Given the description of an element on the screen output the (x, y) to click on. 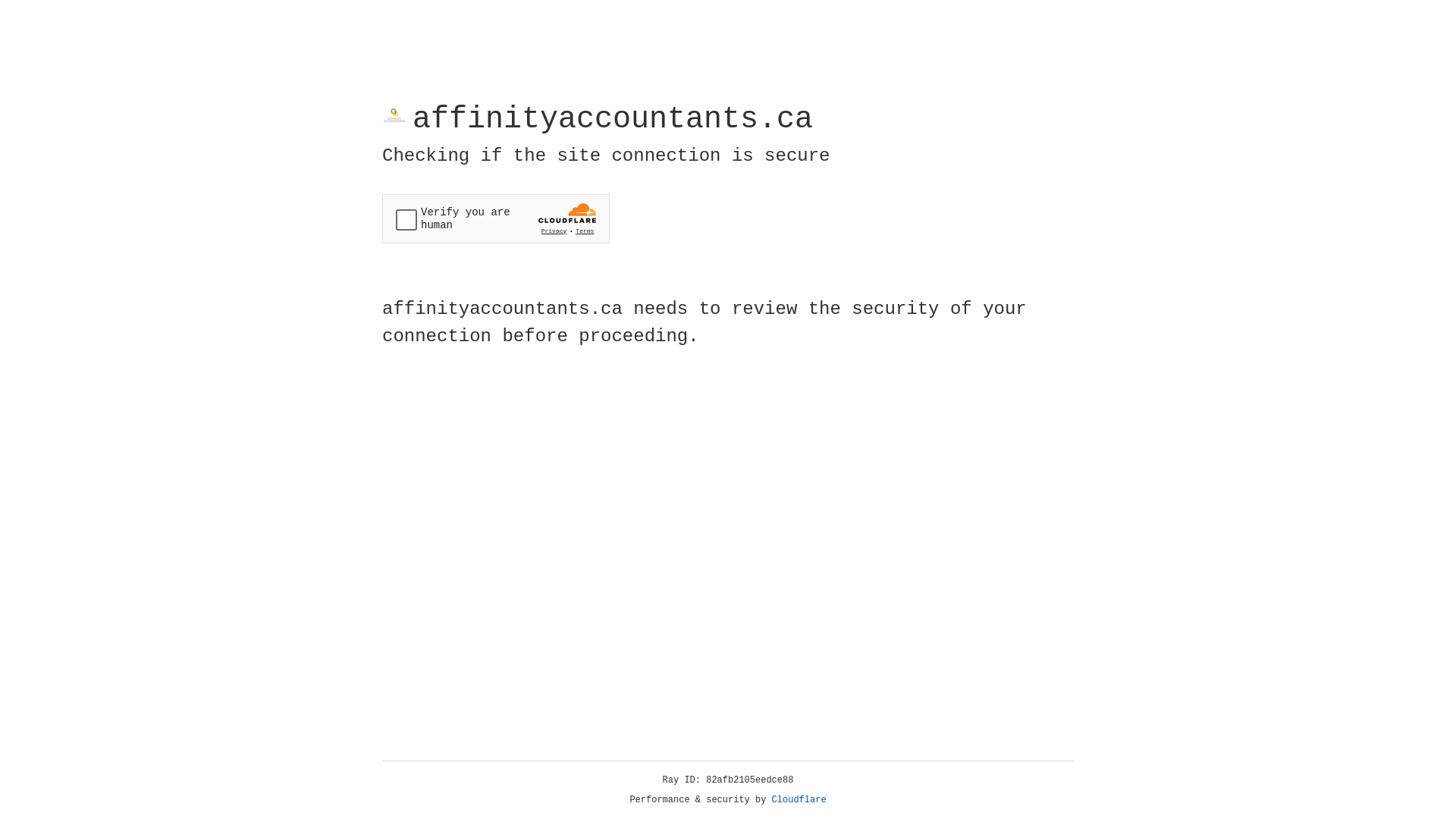
Cloudflare Element type: text (798, 799)
Widget containing a Cloudflare security challenge Element type: hover (495, 218)
